Given the description of an element on the screen output the (x, y) to click on. 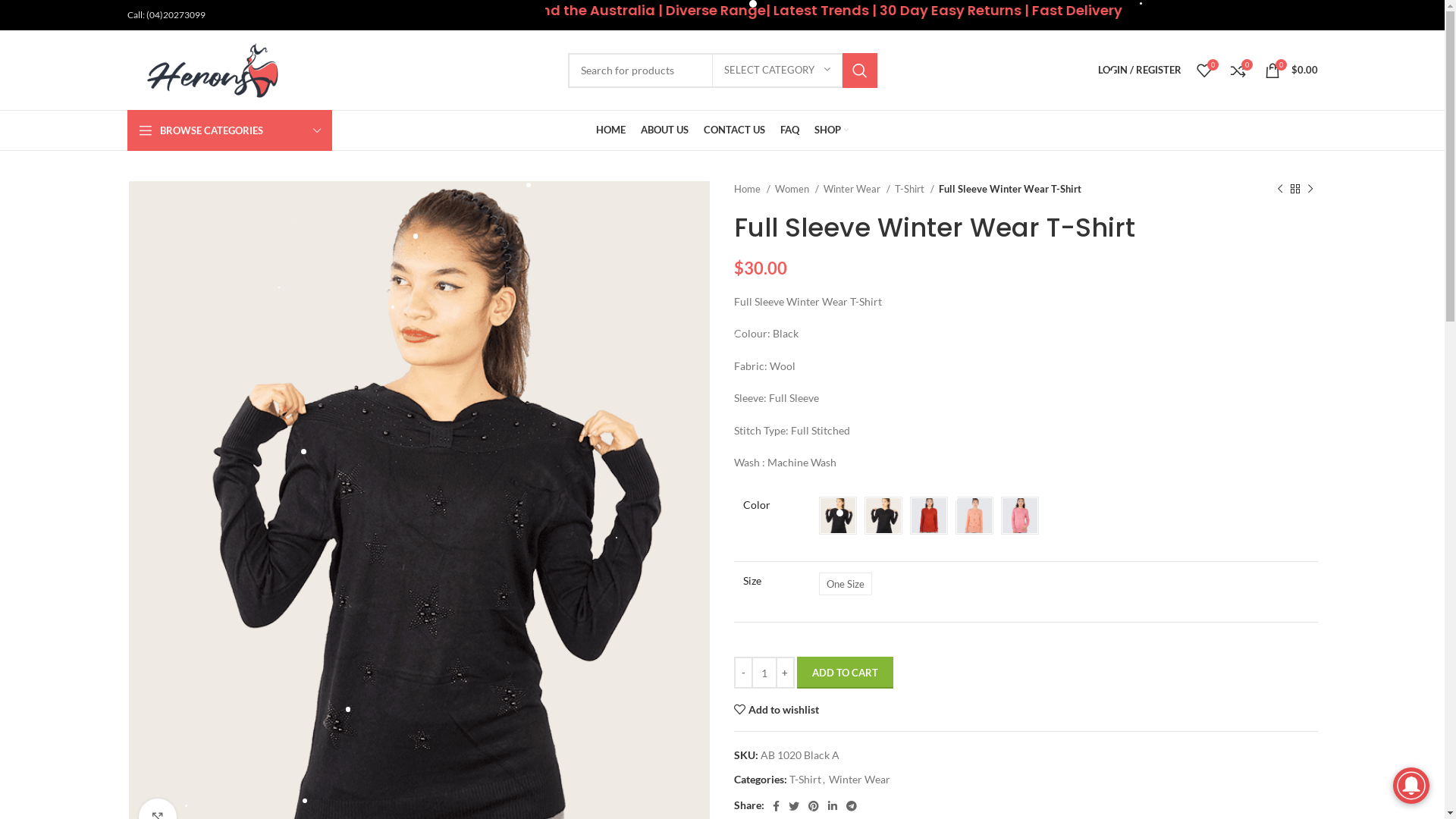
Women Element type: text (797, 189)
Winter Wear Element type: text (858, 778)
Add to wishlist Element type: text (776, 709)
0
$0.00 Element type: text (1291, 69)
Black Element type: hover (837, 515)
Peach Element type: hover (974, 515)
SELECT CATEGORY Element type: text (776, 70)
ADD TO CART Element type: text (844, 672)
Maroon Element type: hover (928, 515)
LOGIN / REGISTER Element type: text (1139, 69)
FAQ Element type: text (789, 130)
CONTACT US Element type: text (734, 130)
Pink Element type: hover (1019, 515)
0 Element type: text (1204, 69)
T-Shirt Element type: text (914, 189)
Search for products Element type: hover (721, 70)
ABOUT US Element type: text (664, 130)
Home Element type: text (752, 189)
Call: (04)20273099 Element type: text (166, 14)
Winter Wear Element type: text (856, 189)
0 Element type: text (1237, 69)
SHOP Element type: text (831, 130)
T-Shirt Element type: text (804, 778)
SEARCH Element type: text (858, 70)
Blue Element type: hover (883, 515)
HOME Element type: text (610, 130)
